Given the description of an element on the screen output the (x, y) to click on. 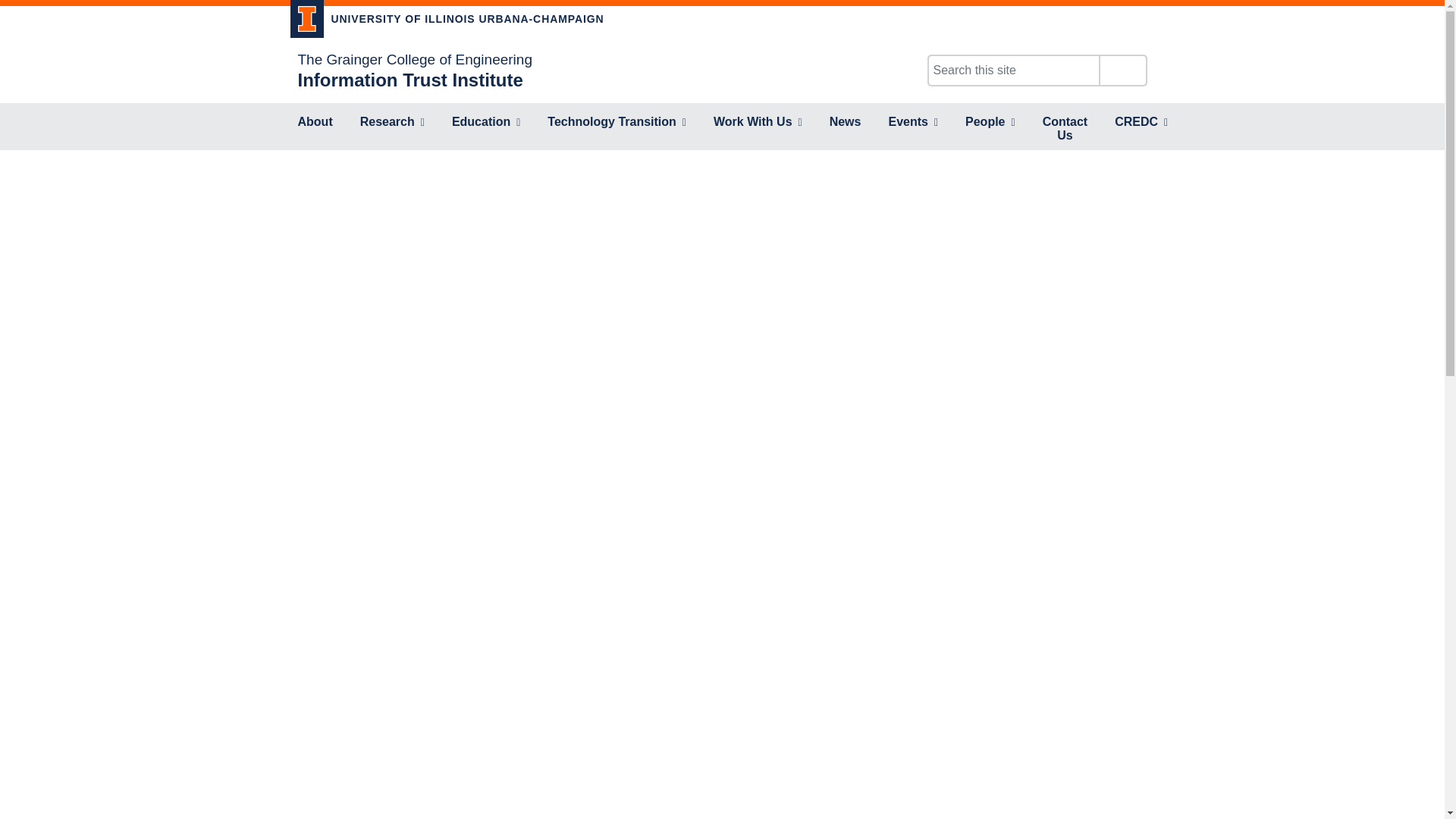
News (845, 122)
Technology Transition (617, 122)
About (314, 122)
Work With Us (757, 122)
Information Trust Institute (409, 79)
UNIVERSITY OF ILLINOIS URBANA-CHAMPAIGN (446, 21)
Search (1121, 70)
Research (392, 122)
The Grainger College of Engineering (414, 59)
Education (485, 122)
